Given the description of an element on the screen output the (x, y) to click on. 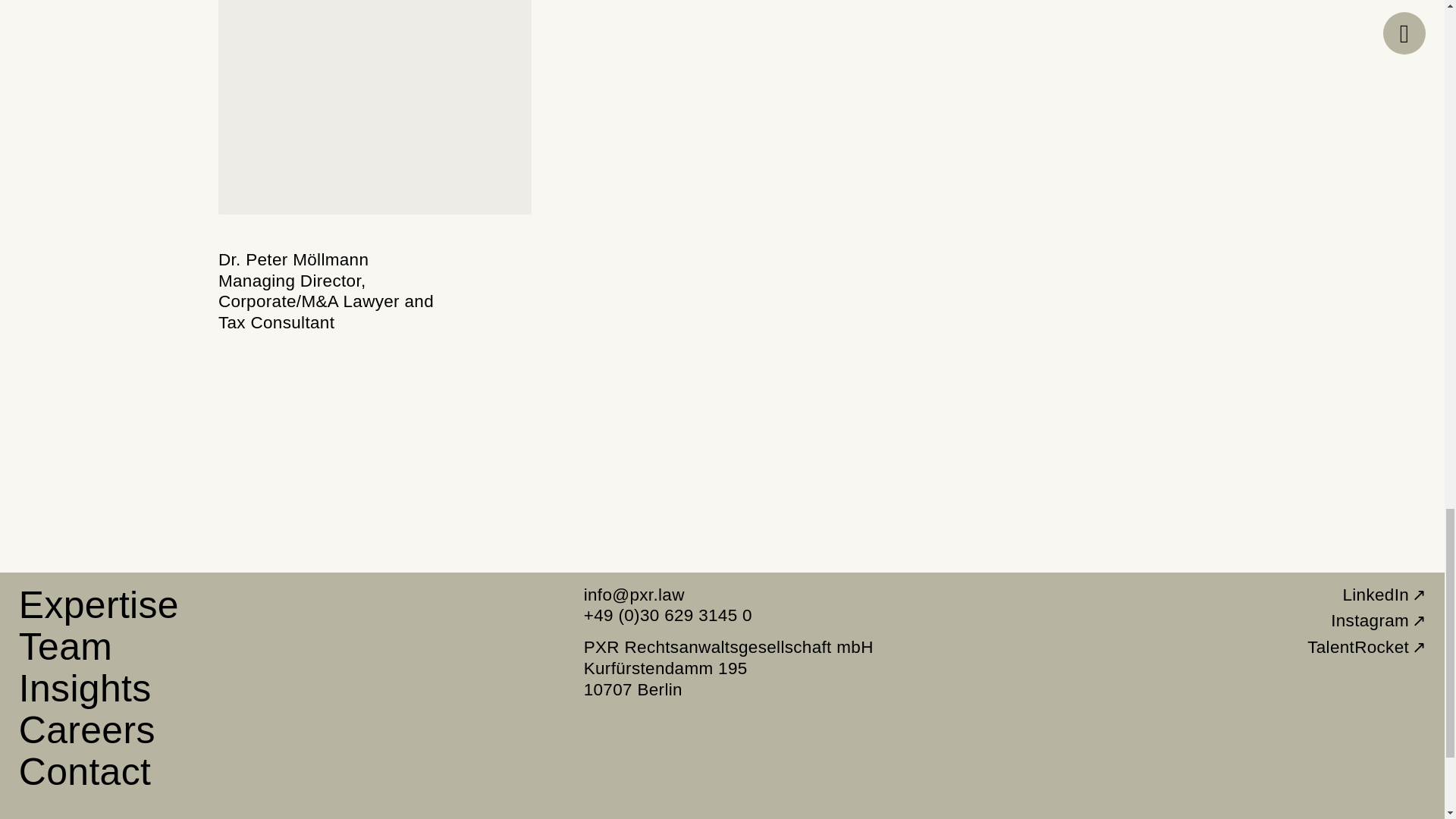
TalentRocket (1369, 645)
Careers (79, 727)
Instagram (1382, 618)
Insights (84, 688)
Contact (79, 770)
LinkedIn (1387, 591)
